Given the description of an element on the screen output the (x, y) to click on. 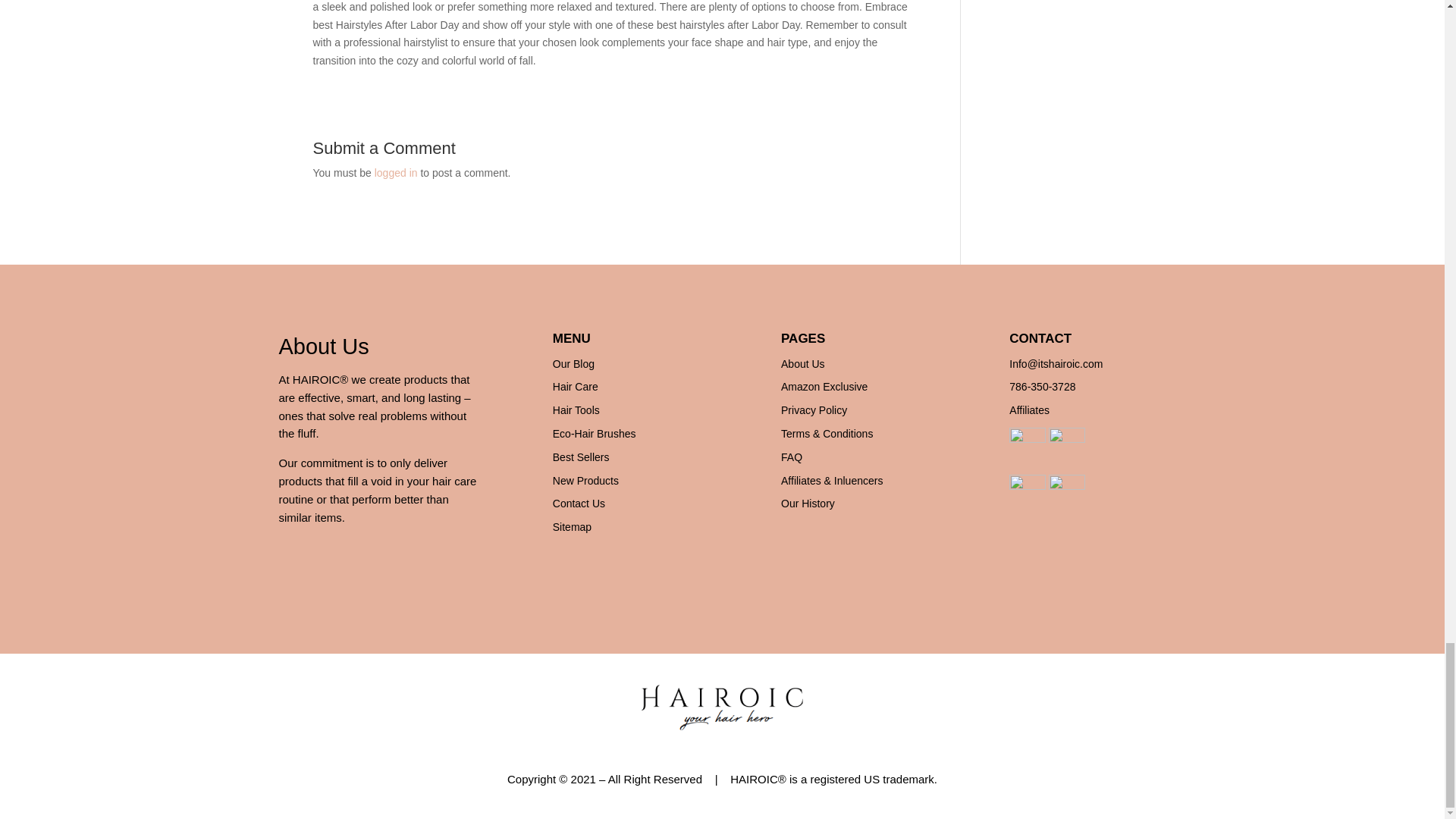
Affiliates (1029, 410)
786-350-3728 (1042, 386)
hairoic (722, 707)
FAQ (791, 457)
Eco-Hair Brushes (594, 433)
About Us (802, 363)
Hair Care (575, 386)
Our History (807, 503)
Our Blog (573, 363)
logged in (395, 173)
Sitemap (572, 526)
Hair Tools (576, 410)
New Products (585, 480)
Amazon Exclusive (823, 386)
Contact Us (579, 503)
